Given the description of an element on the screen output the (x, y) to click on. 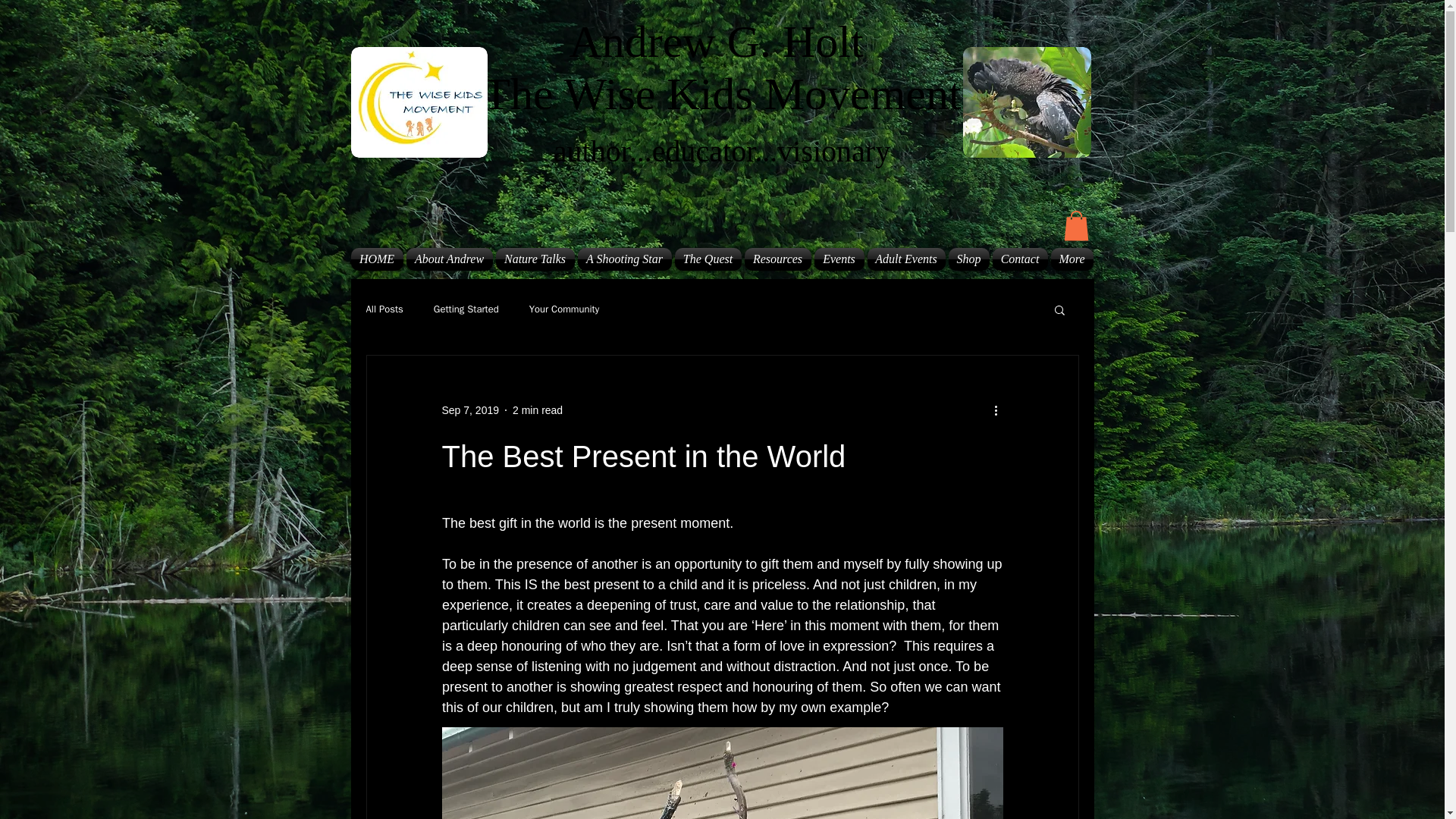
Sep 7, 2019 (470, 410)
The Quest (707, 259)
A Shooting Star (624, 259)
Nature Talks (535, 259)
HOME (377, 259)
Adult Events (906, 259)
All Posts (384, 309)
Shop (968, 259)
2 min read (537, 410)
Getting Started (466, 309)
